Given the description of an element on the screen output the (x, y) to click on. 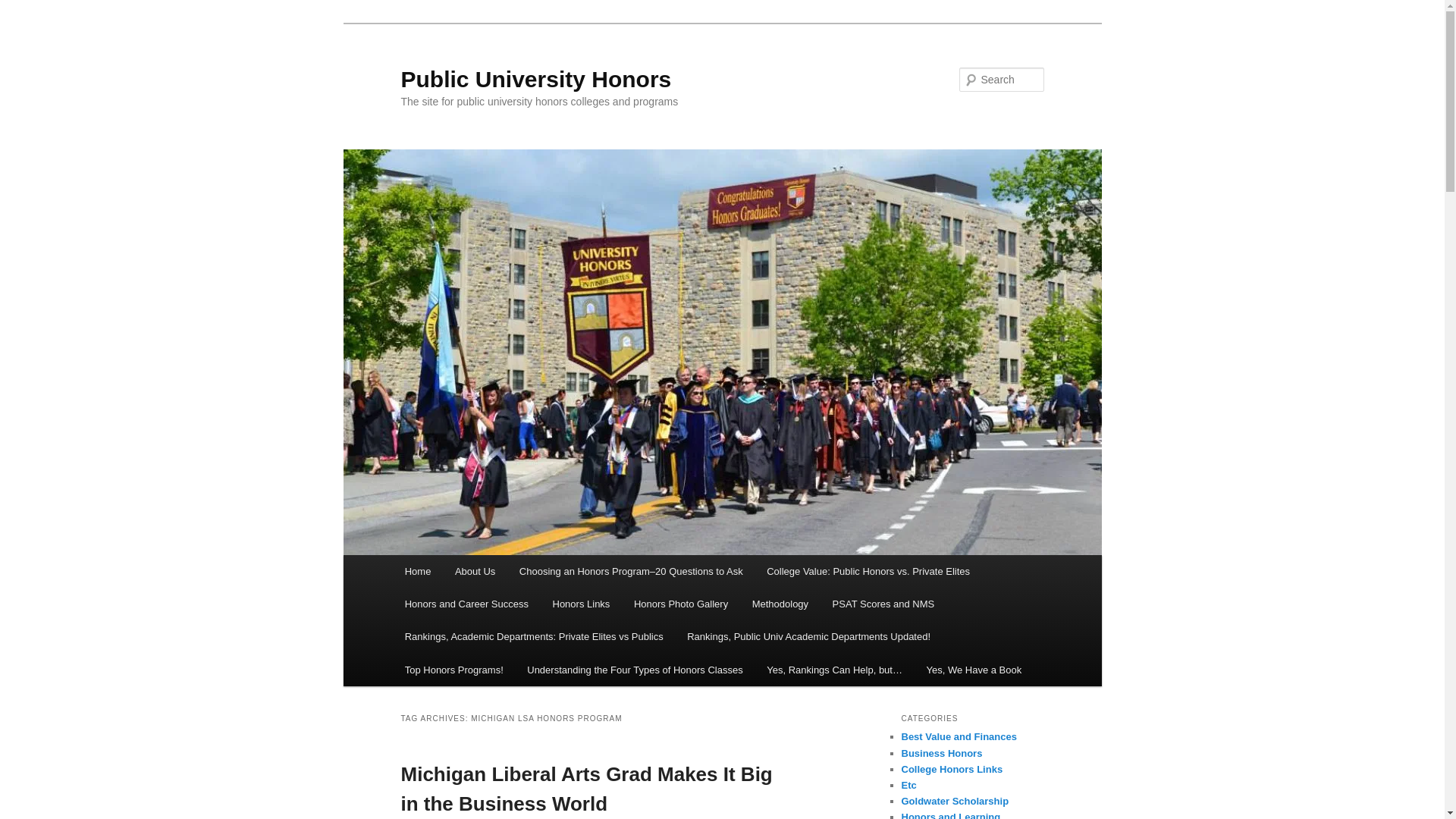
Methodology (780, 603)
PSAT Scores and NMS (883, 603)
Honors Links (580, 603)
Search (24, 8)
Top Honors Programs! (454, 669)
Yes, We Have a Book (973, 669)
Rankings, Academic Departments: Private Elites vs Publics (534, 635)
Public University Honors (535, 78)
About Us (474, 571)
Rankings, Public Univ Academic Departments Updated! (808, 635)
College Value: Public Honors vs. Private Elites (867, 571)
Honors and Career Success (466, 603)
Business Honors (941, 753)
